Given the description of an element on the screen output the (x, y) to click on. 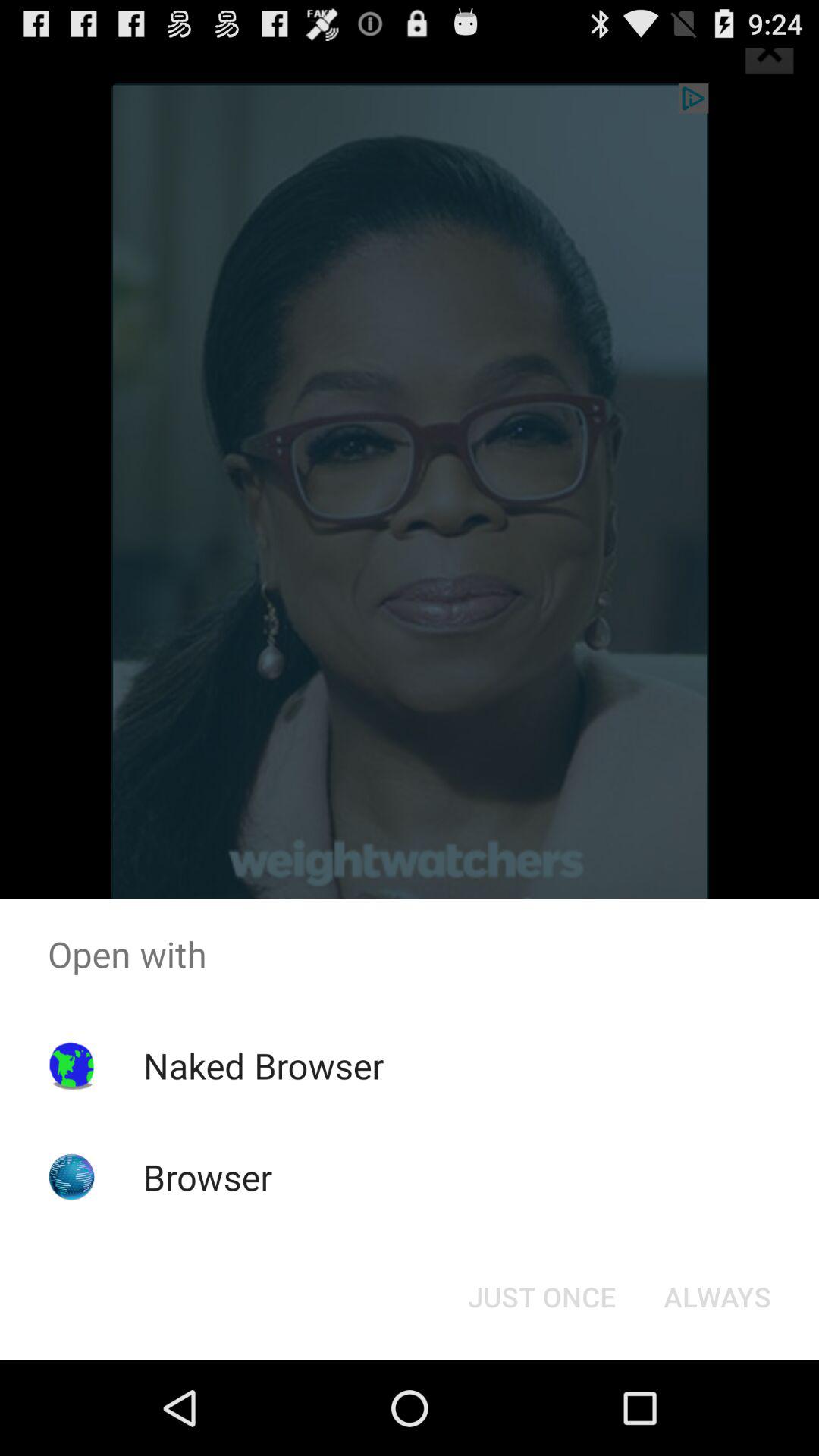
open item at the bottom (541, 1296)
